Given the description of an element on the screen output the (x, y) to click on. 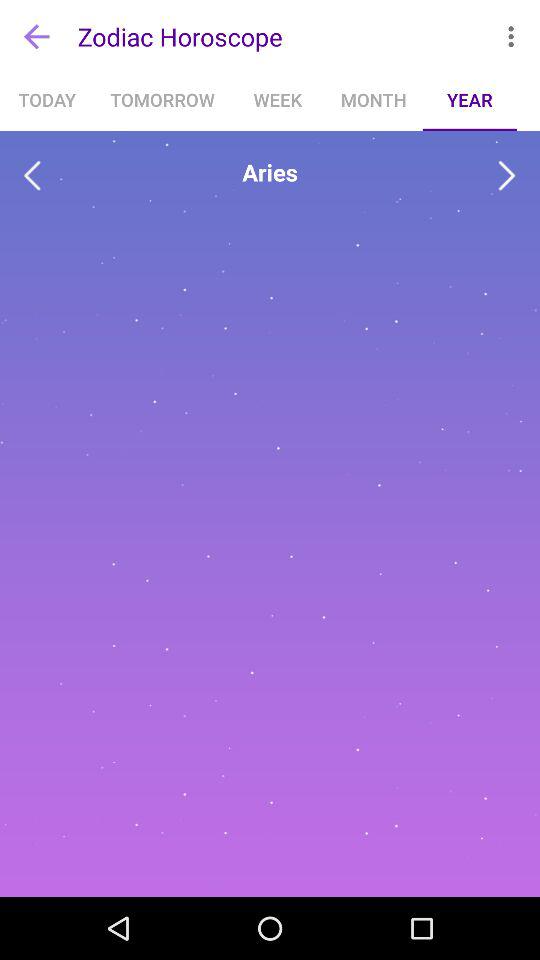
click arrow button (506, 175)
